Given the description of an element on the screen output the (x, y) to click on. 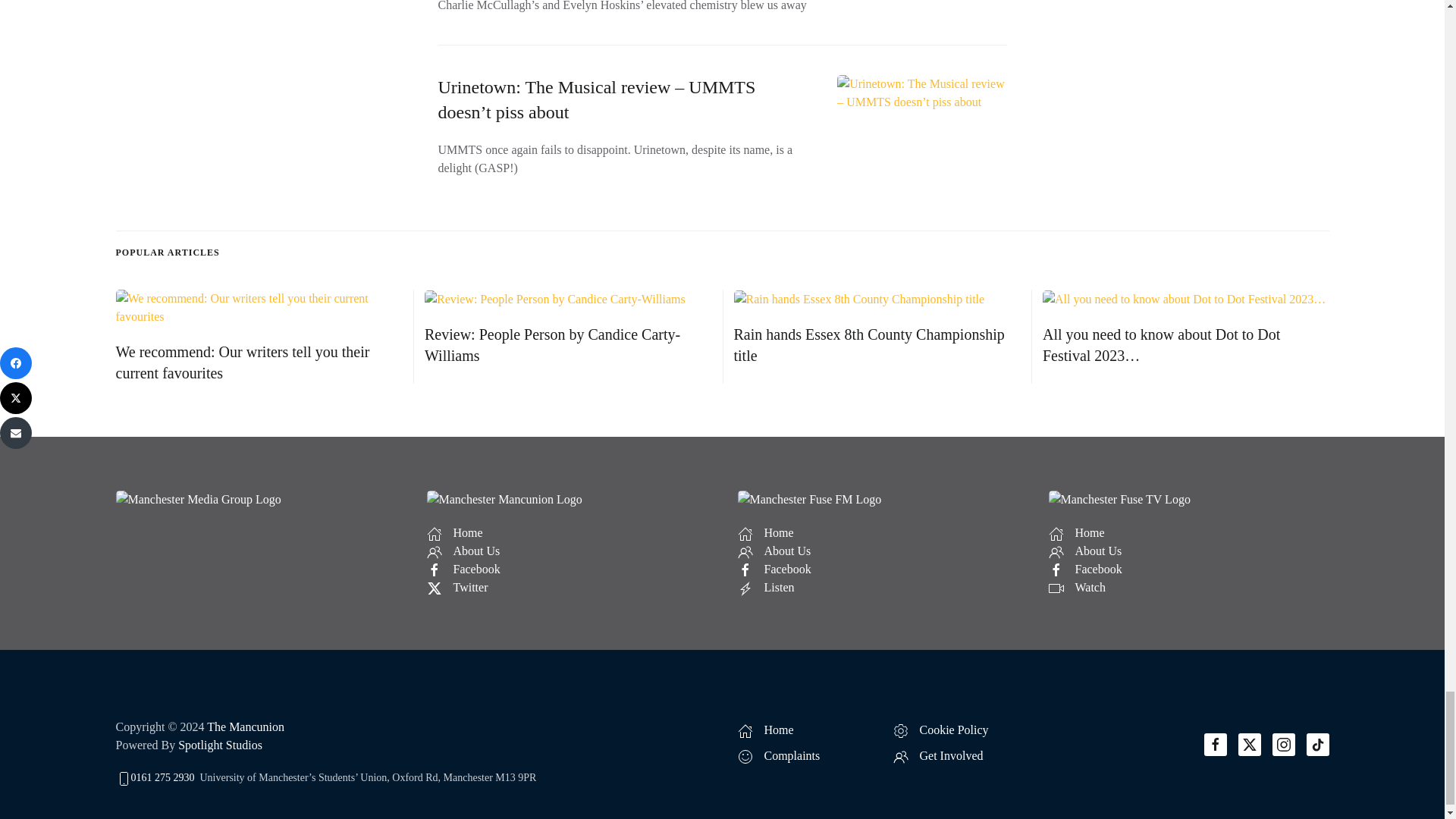
The Mancunion (244, 726)
Web Design by Spotlight Studios (219, 744)
